Given the description of an element on the screen output the (x, y) to click on. 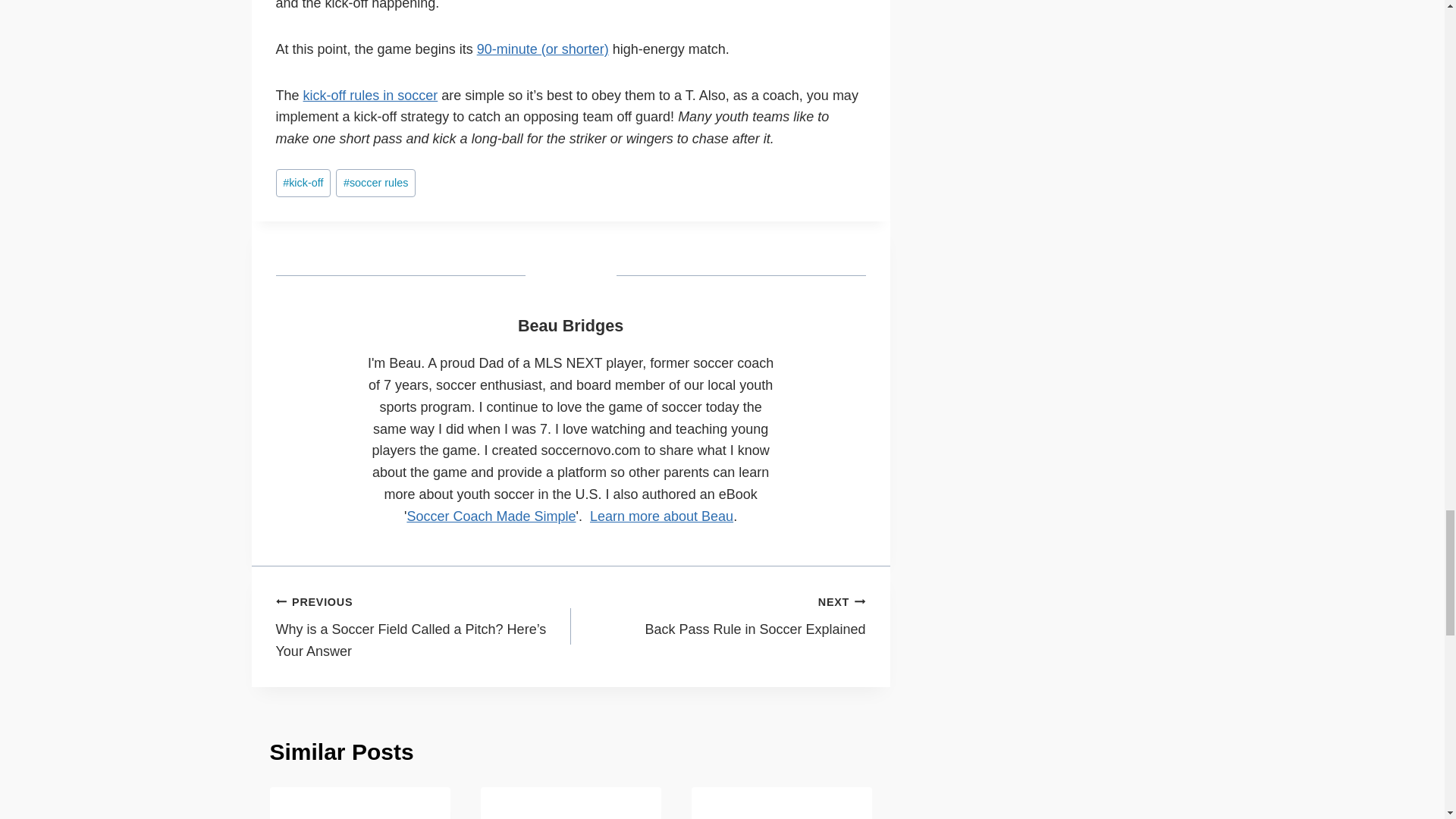
kick-off rules in soccer (370, 95)
Posts by Beau Bridges (570, 325)
soccer rules (375, 182)
kick-off (303, 182)
